Given the description of an element on the screen output the (x, y) to click on. 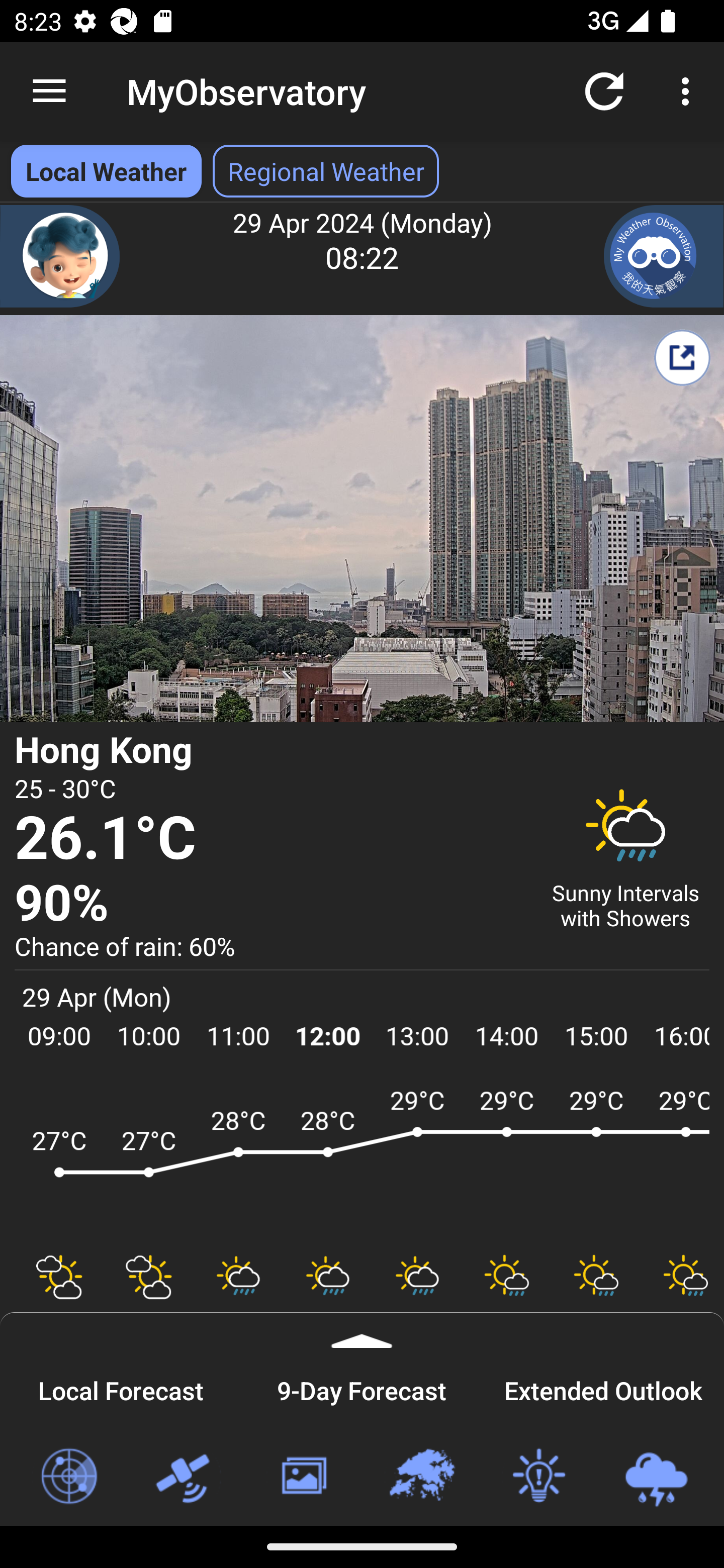
Navigate up (49, 91)
Refresh (604, 90)
More options (688, 90)
Local Weather Local Weather selected (105, 170)
Regional Weather Select Regional Weather (325, 170)
Chatbot (60, 256)
My Weather Observation (663, 256)
Share My Weather Report (681, 357)
26.1°C Temperature
26.1 degree Celsius (270, 839)
90% Relative Humidity
90 percent (270, 903)
ARWF (361, 1160)
Expand (362, 1330)
Local Forecast (120, 1387)
Extended Outlook (603, 1387)
Radar Images (68, 1476)
Satellite Images (185, 1476)
Weather Photos (302, 1476)
Regional Weather (420, 1476)
Weather Tips (537, 1476)
Loc-based Rain & Lightning Forecast (655, 1476)
